Given the description of an element on the screen output the (x, y) to click on. 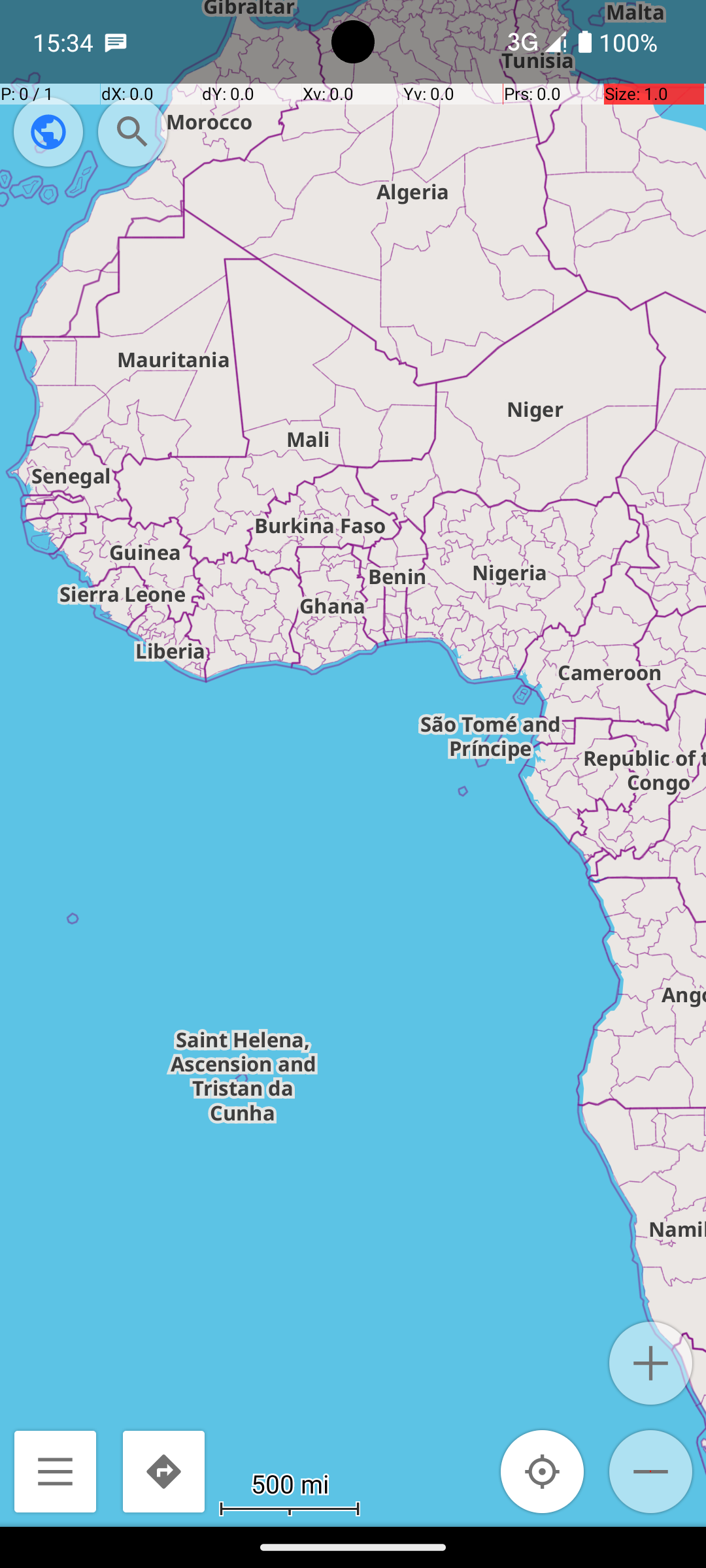
Configure map Element type: android.widget.ImageButton (48, 131)
Back to menu Element type: android.widget.ImageButton (55, 1471)
Route Element type: android.widget.ImageButton (163, 1471)
500 mi Element type: android.widget.TextView (289, 1483)
Position not yet known. Element type: android.widget.ImageButton (542, 1471)
Zoom in Element type: android.widget.ImageButton (650, 1362)
Zoom out Element type: android.widget.ImageButton (650, 1471)
